Given the description of an element on the screen output the (x, y) to click on. 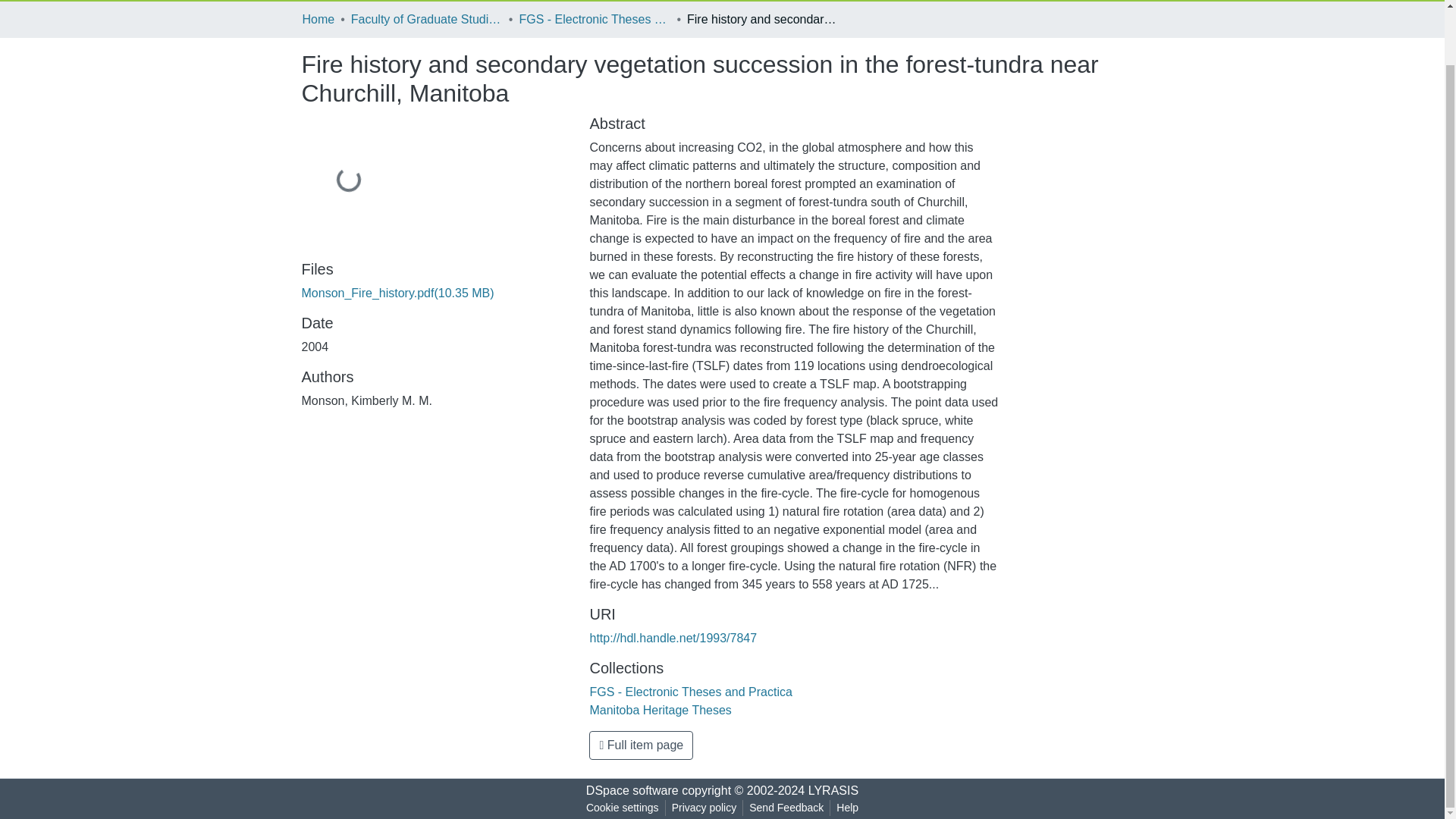
Full item page (641, 745)
FGS - Electronic Theses and Practica (690, 691)
Home (317, 19)
Privacy policy (703, 807)
Help (846, 807)
Manitoba Heritage Theses (659, 709)
Cookie settings (622, 807)
DSpace software (632, 789)
Send Feedback (785, 807)
FGS - Electronic Theses and Practica (593, 19)
LYRASIS (833, 789)
